Given the description of an element on the screen output the (x, y) to click on. 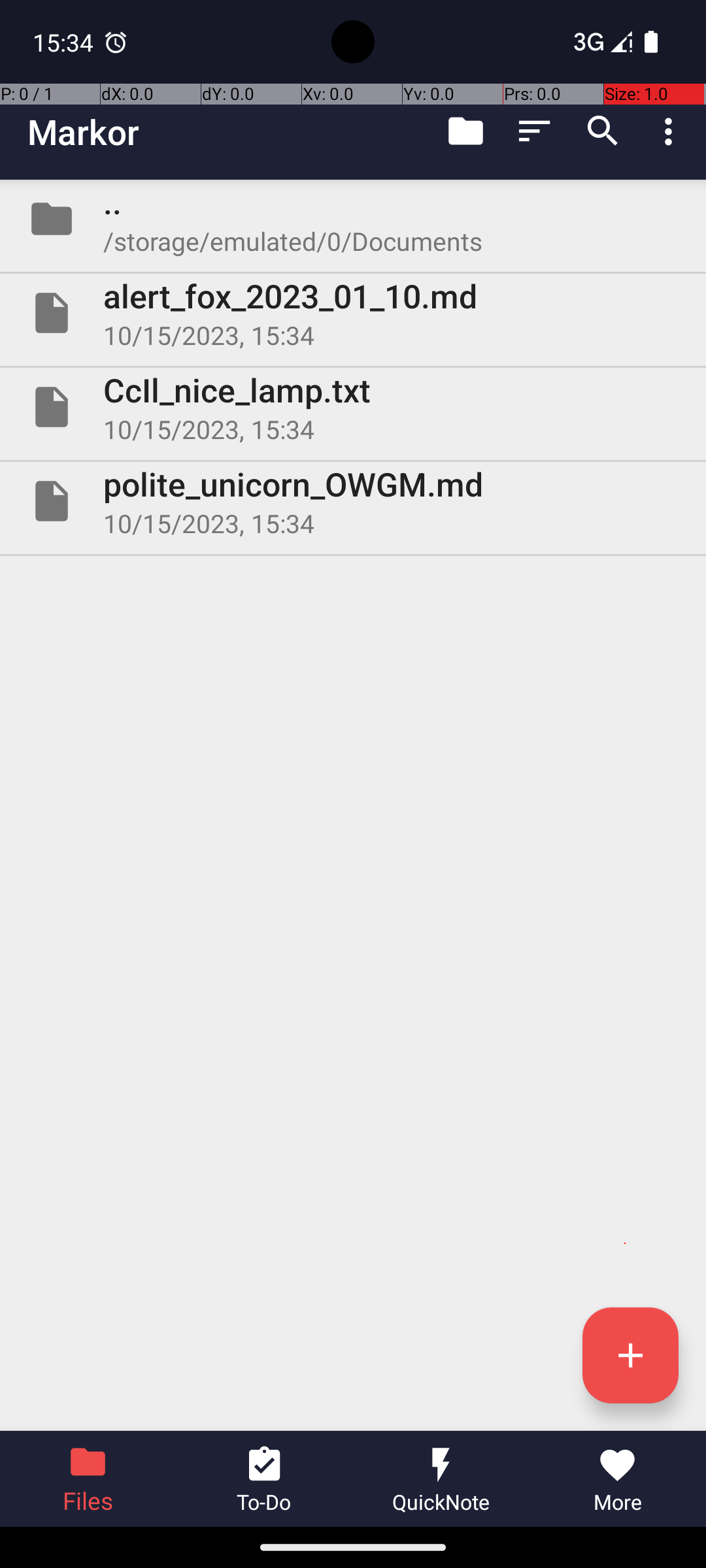
File alert_fox_2023_01_10.md  Element type: android.widget.LinearLayout (353, 312)
File CcIl_nice_lamp.txt  Element type: android.widget.LinearLayout (353, 406)
File polite_unicorn_OWGM.md  Element type: android.widget.LinearLayout (353, 500)
